Given the description of an element on the screen output the (x, y) to click on. 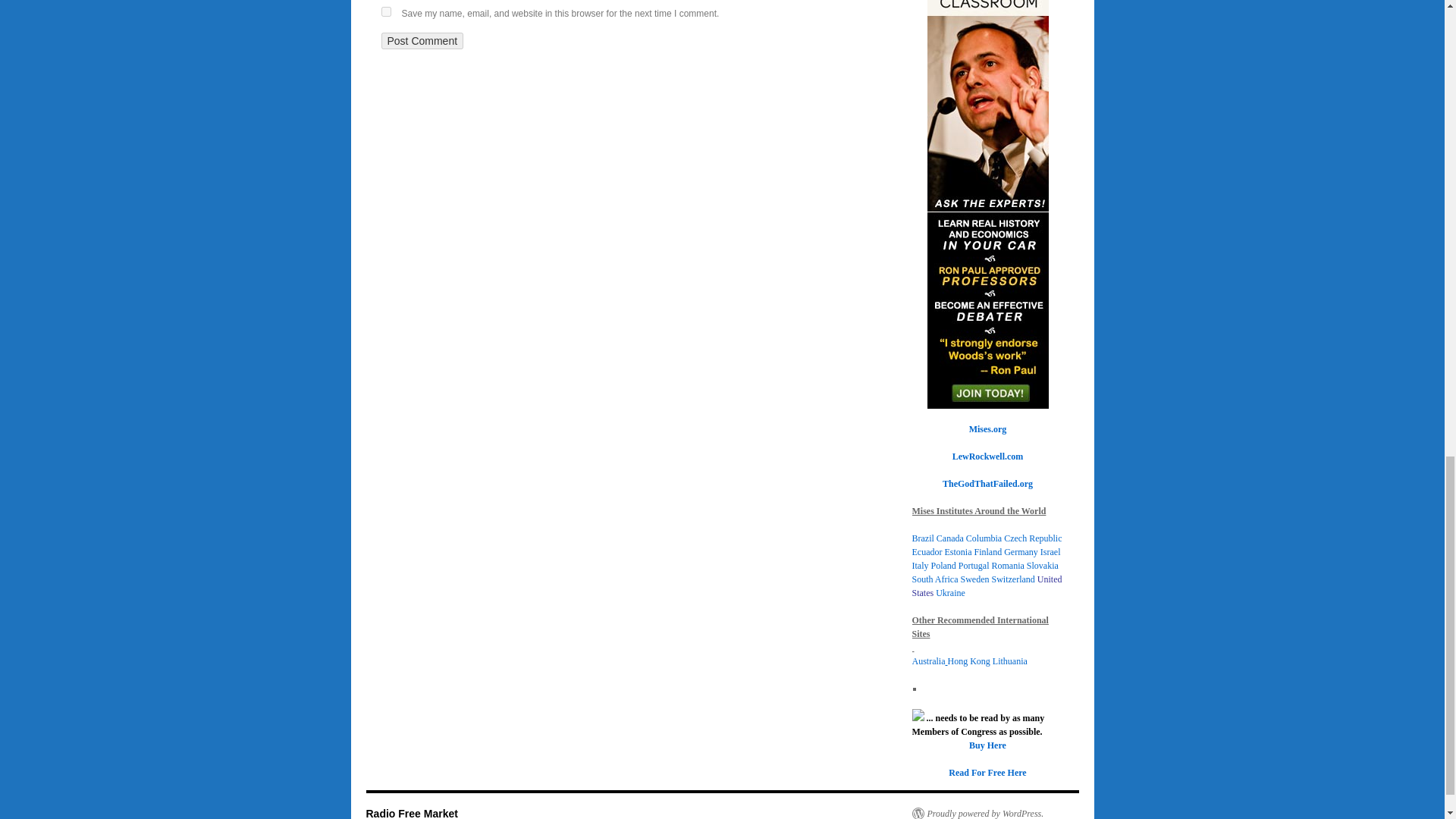
yes (385, 11)
Post Comment (421, 40)
Post Comment (421, 40)
